Given the description of an element on the screen output the (x, y) to click on. 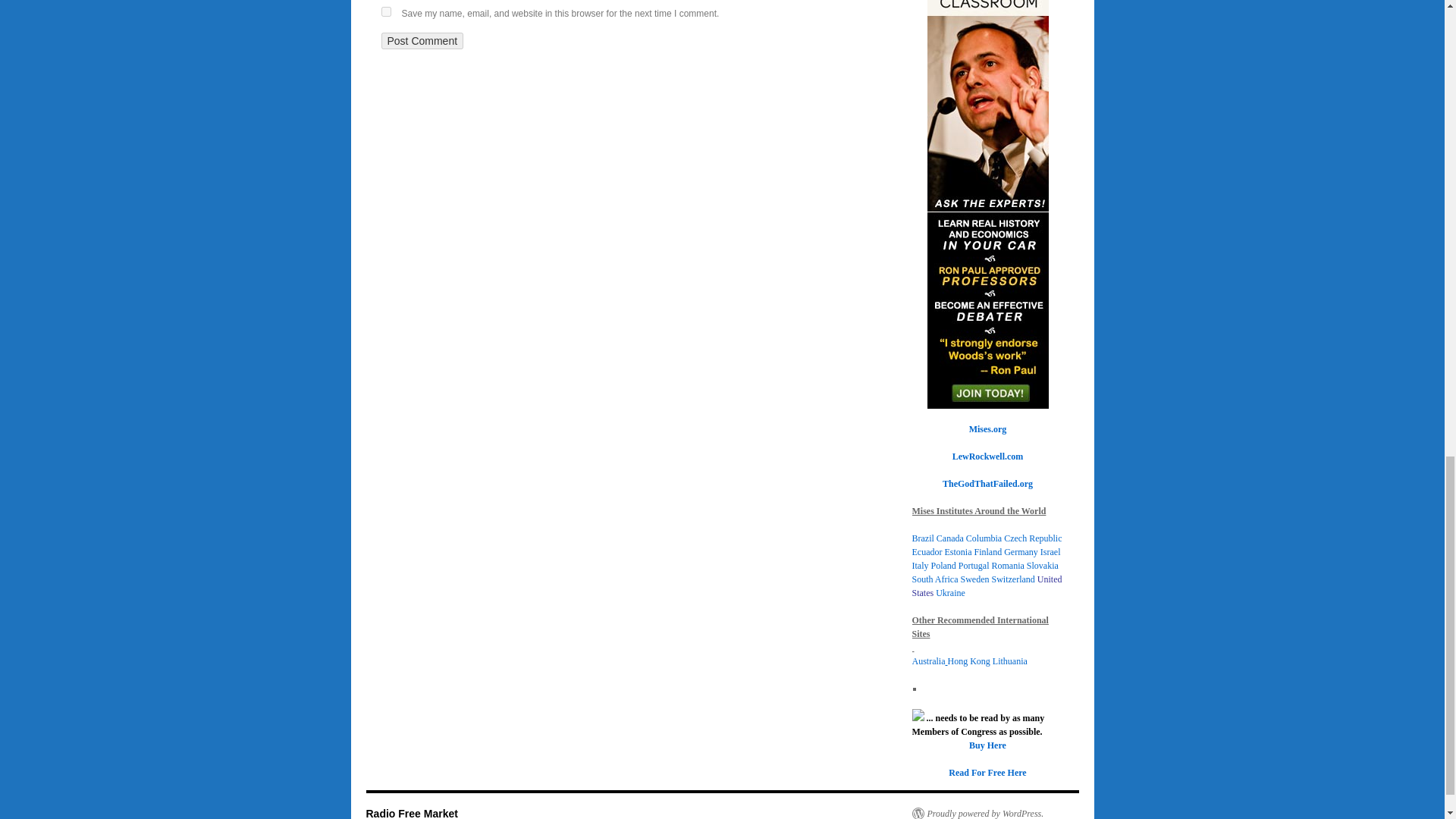
yes (385, 11)
Post Comment (421, 40)
Post Comment (421, 40)
